Given the description of an element on the screen output the (x, y) to click on. 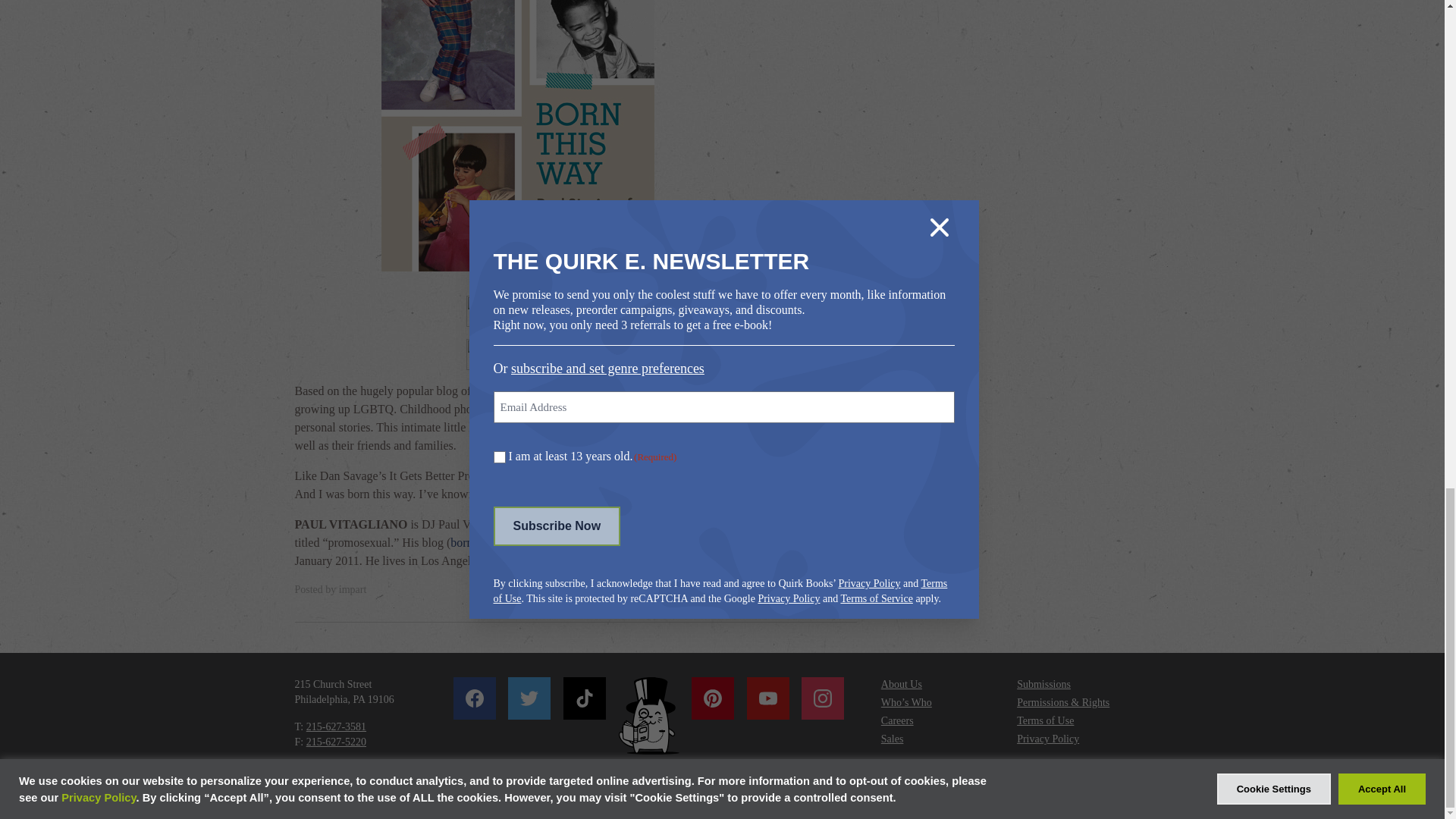
impart (352, 589)
bornthiswayblog.com (502, 542)
Born This Way (575, 135)
